Given the description of an element on the screen output the (x, y) to click on. 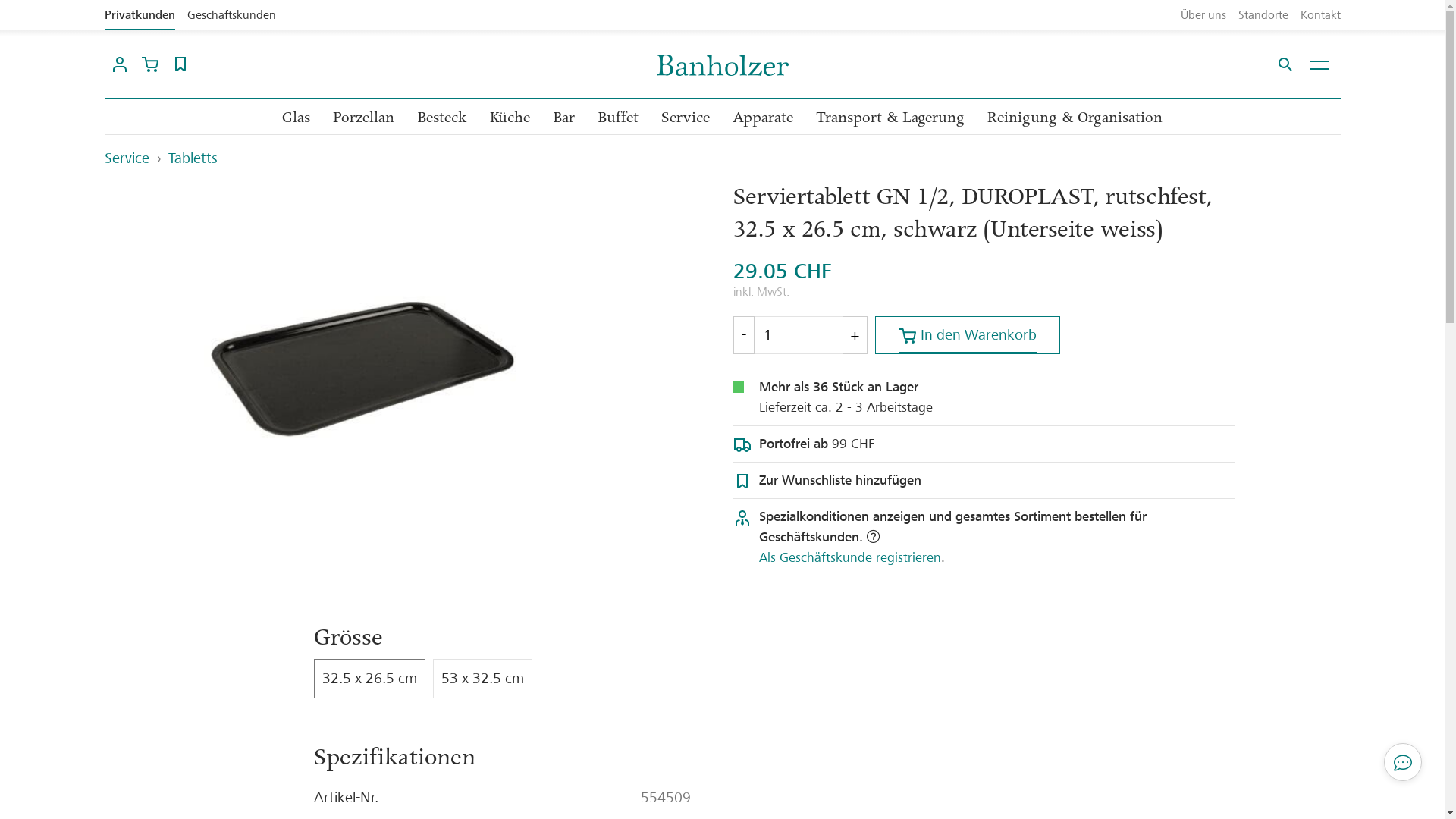
Transport & Lagerung Element type: text (889, 117)
Service Element type: text (126, 158)
32.5 x 26.5 cm Element type: text (369, 678)
Tabletts Element type: text (192, 158)
Kontakt Element type: text (1319, 15)
53 x 32.5 cm Element type: text (482, 678)
Service Element type: text (685, 117)
Standorte Element type: text (1262, 15)
Buffet Element type: text (617, 117)
+ Element type: text (854, 335)
Menge Element type: hover (797, 335)
Besteck Element type: text (442, 117)
Reinigung & Organisation Element type: text (1074, 117)
- Element type: text (743, 335)
Glas Element type: text (296, 117)
Porzellan Element type: text (363, 117)
77842 Element type: text (23, 7)
 In den Warenkorb Element type: text (967, 335)
Privatkunden Element type: text (139, 15)
Apparate Element type: text (762, 117)
Bar Element type: text (563, 117)
